Given the description of an element on the screen output the (x, y) to click on. 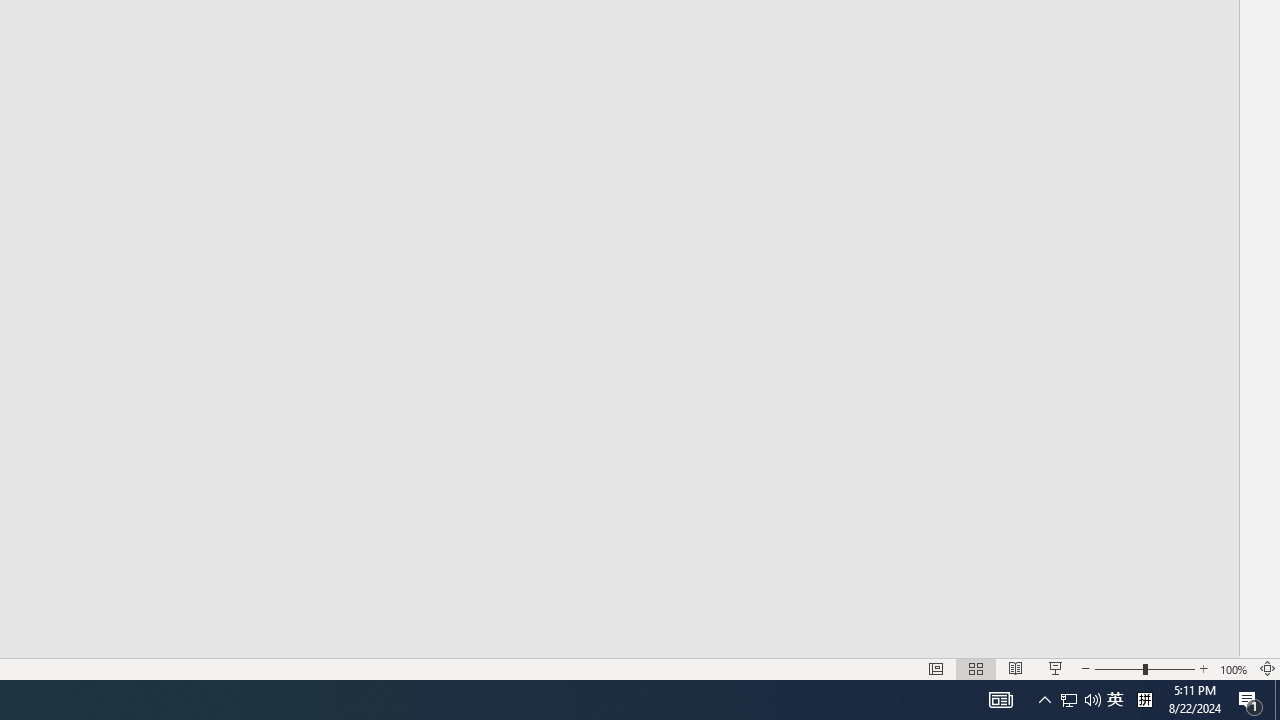
Zoom 100% (1234, 668)
